Given the description of an element on the screen output the (x, y) to click on. 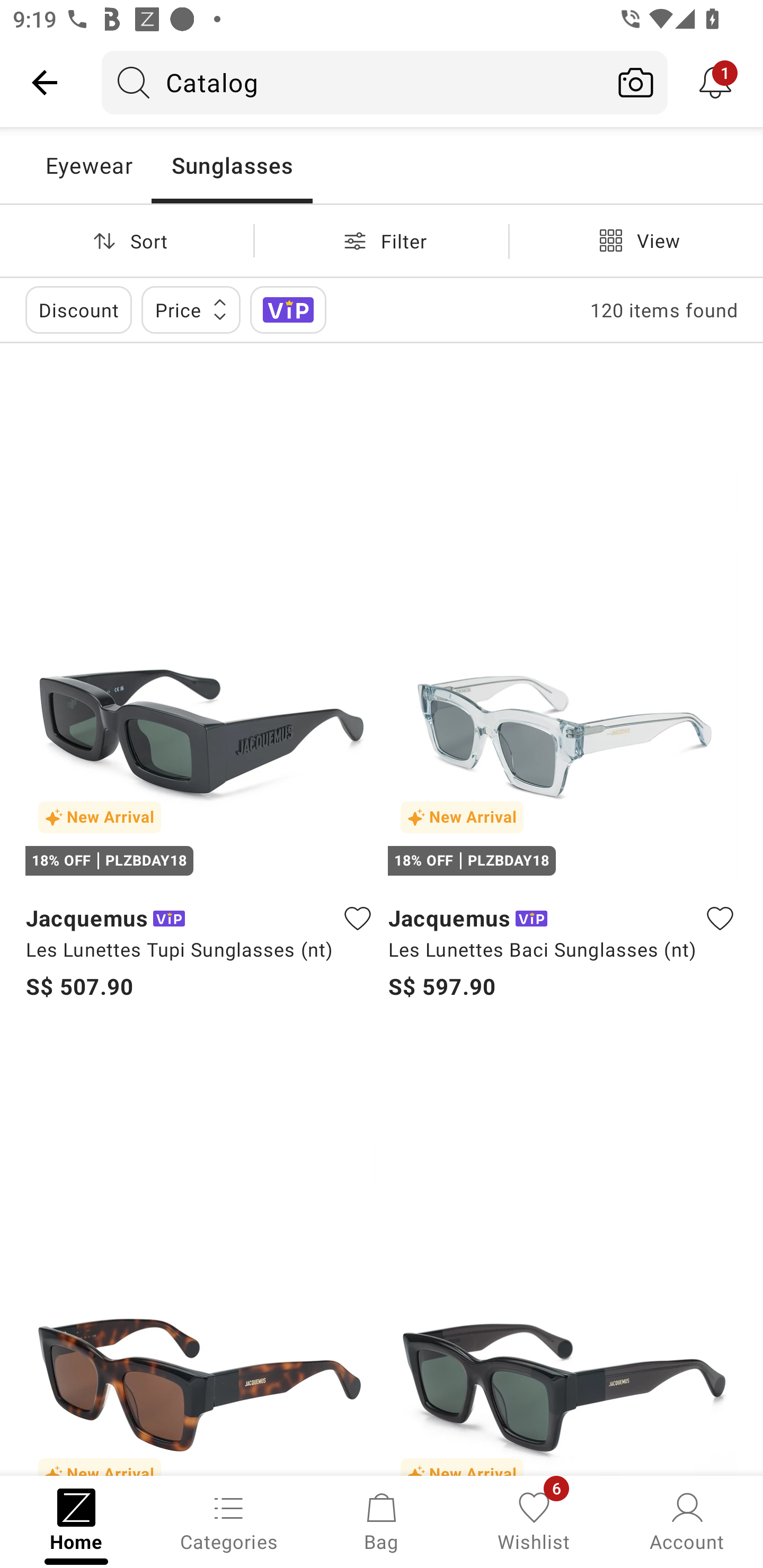
Navigate up (44, 82)
Catalog (352, 82)
Eyewear (88, 165)
Sort (126, 240)
Filter (381, 240)
View (636, 240)
Discount (78, 309)
Price (190, 309)
New Arrival (200, 1256)
New Arrival (562, 1256)
Categories (228, 1519)
Bag (381, 1519)
Wishlist, 6 new notifications Wishlist (533, 1519)
Account (686, 1519)
